Given the description of an element on the screen output the (x, y) to click on. 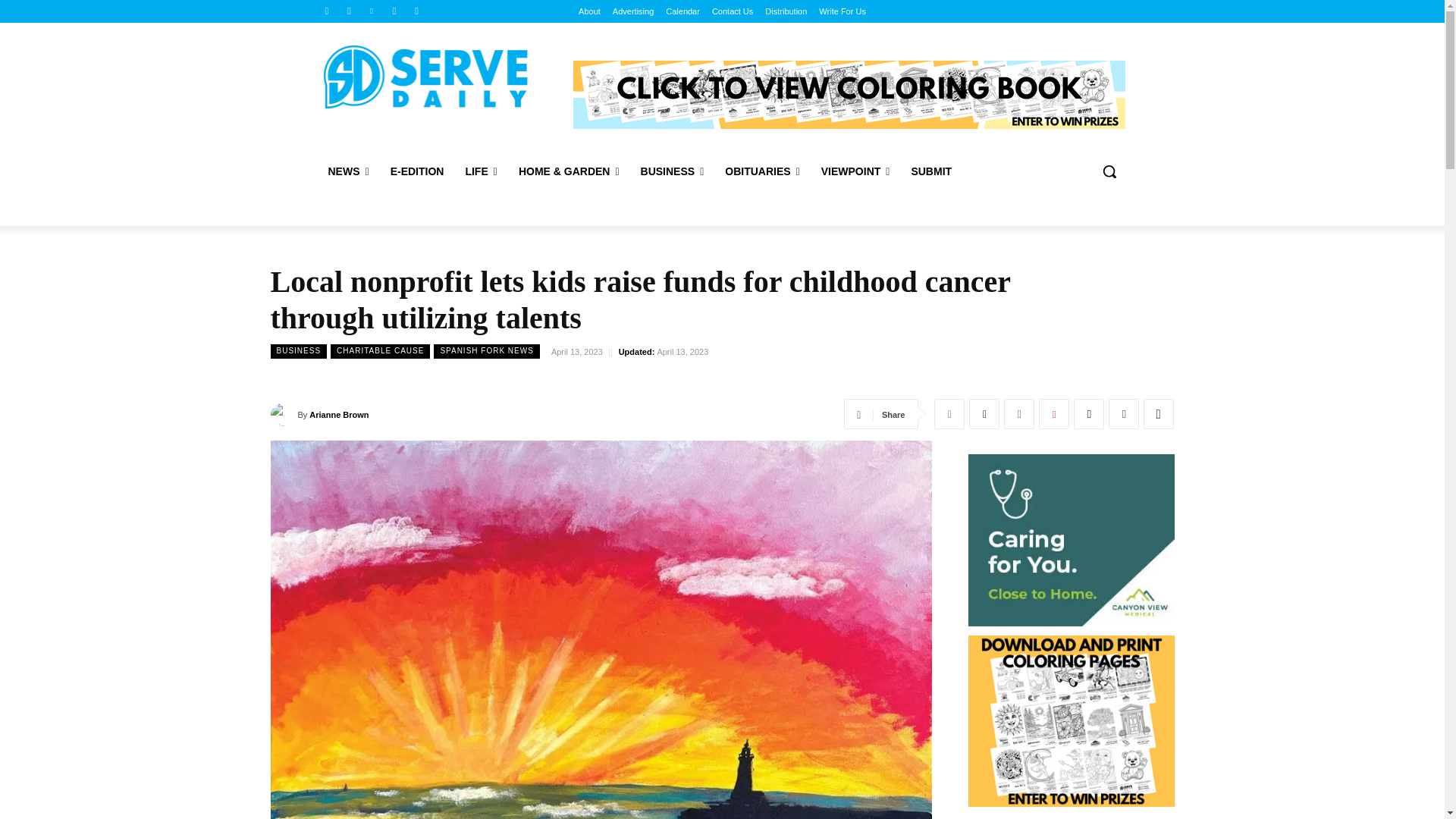
Twitter (394, 10)
Instagram (348, 10)
Linkedin (371, 10)
Facebook (326, 10)
